Given the description of an element on the screen output the (x, y) to click on. 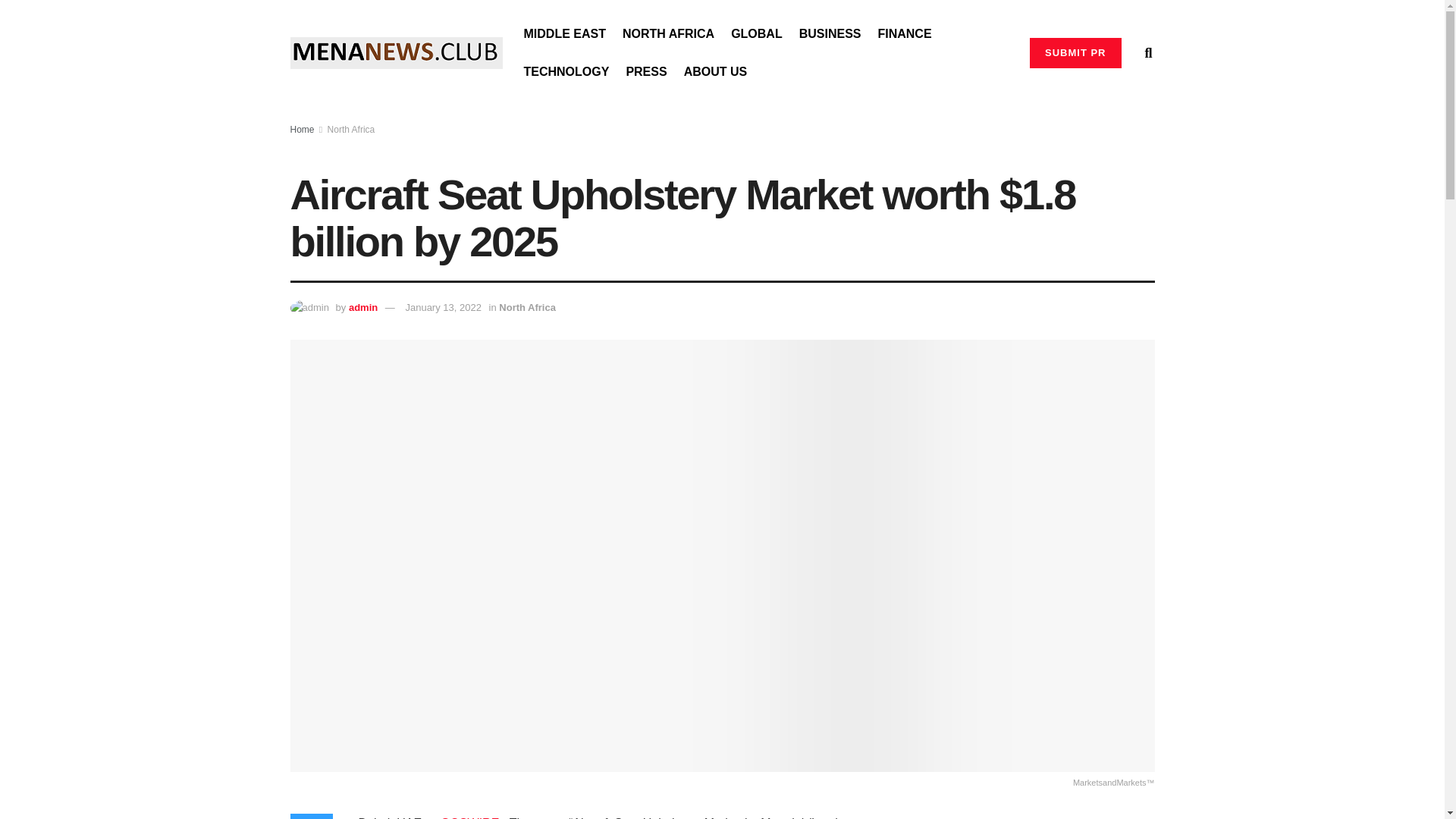
admin (363, 307)
ABOUT US (716, 71)
North Africa (527, 307)
SUBMIT PR (1075, 52)
January 13, 2022 (442, 307)
BUSINESS (830, 33)
MIDDLE EAST (563, 33)
TECHNOLOGY (565, 71)
PRESS (646, 71)
NORTH AFRICA (668, 33)
